Given the description of an element on the screen output the (x, y) to click on. 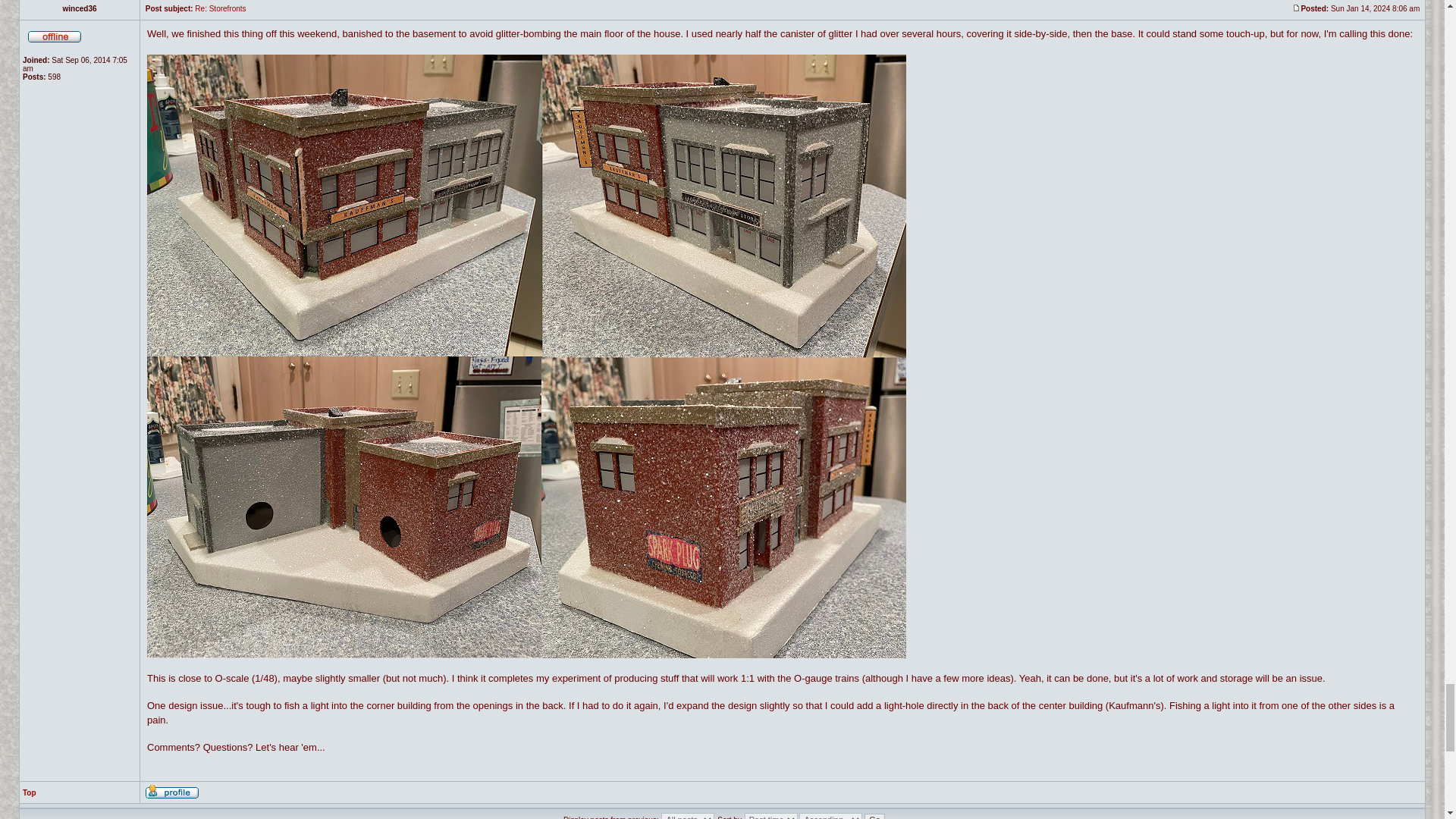
Go (874, 816)
